Given the description of an element on the screen output the (x, y) to click on. 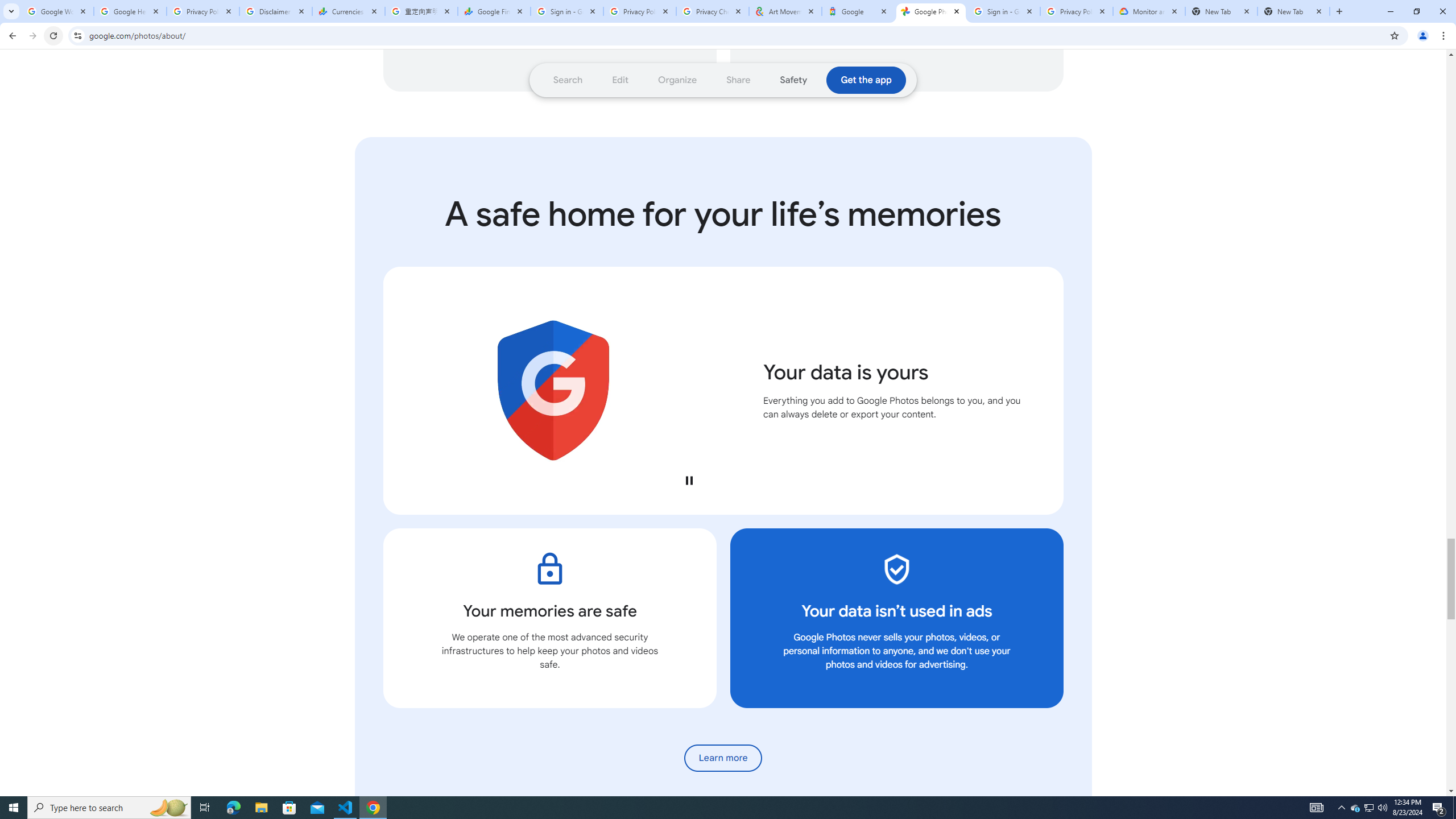
Google (857, 11)
A checkmark icon. (896, 568)
Padlock icon indicating security.  (549, 568)
Play video (688, 479)
Go to section: Organize (677, 80)
New Tab (1293, 11)
